Given the description of an element on the screen output the (x, y) to click on. 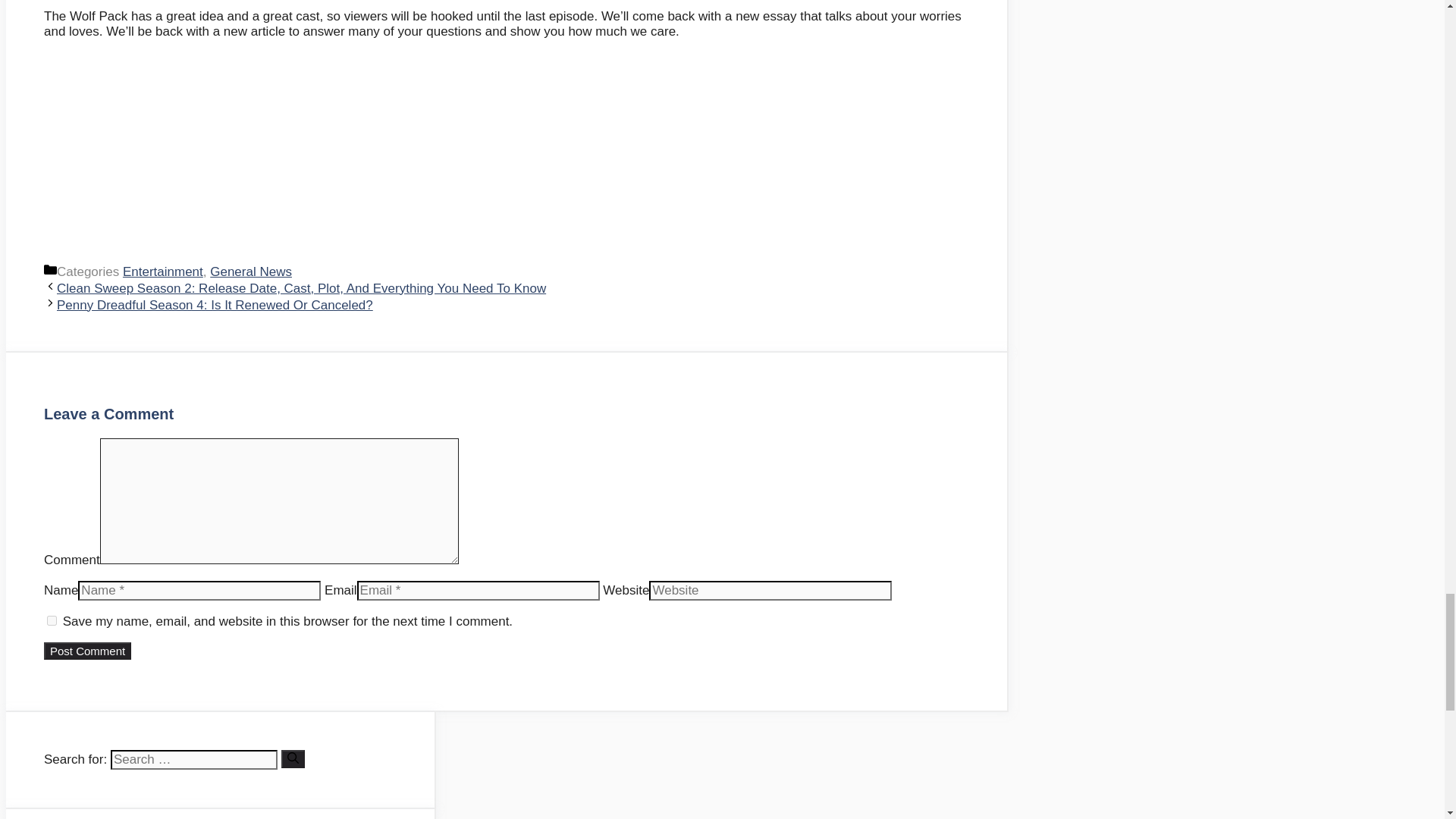
General News (250, 271)
yes (51, 620)
Entertainment (162, 271)
Penny Dreadful Season 4: Is It Renewed Or Canceled? (214, 305)
Search for: (194, 759)
Post Comment (87, 651)
Post Comment (87, 651)
